Given the description of an element on the screen output the (x, y) to click on. 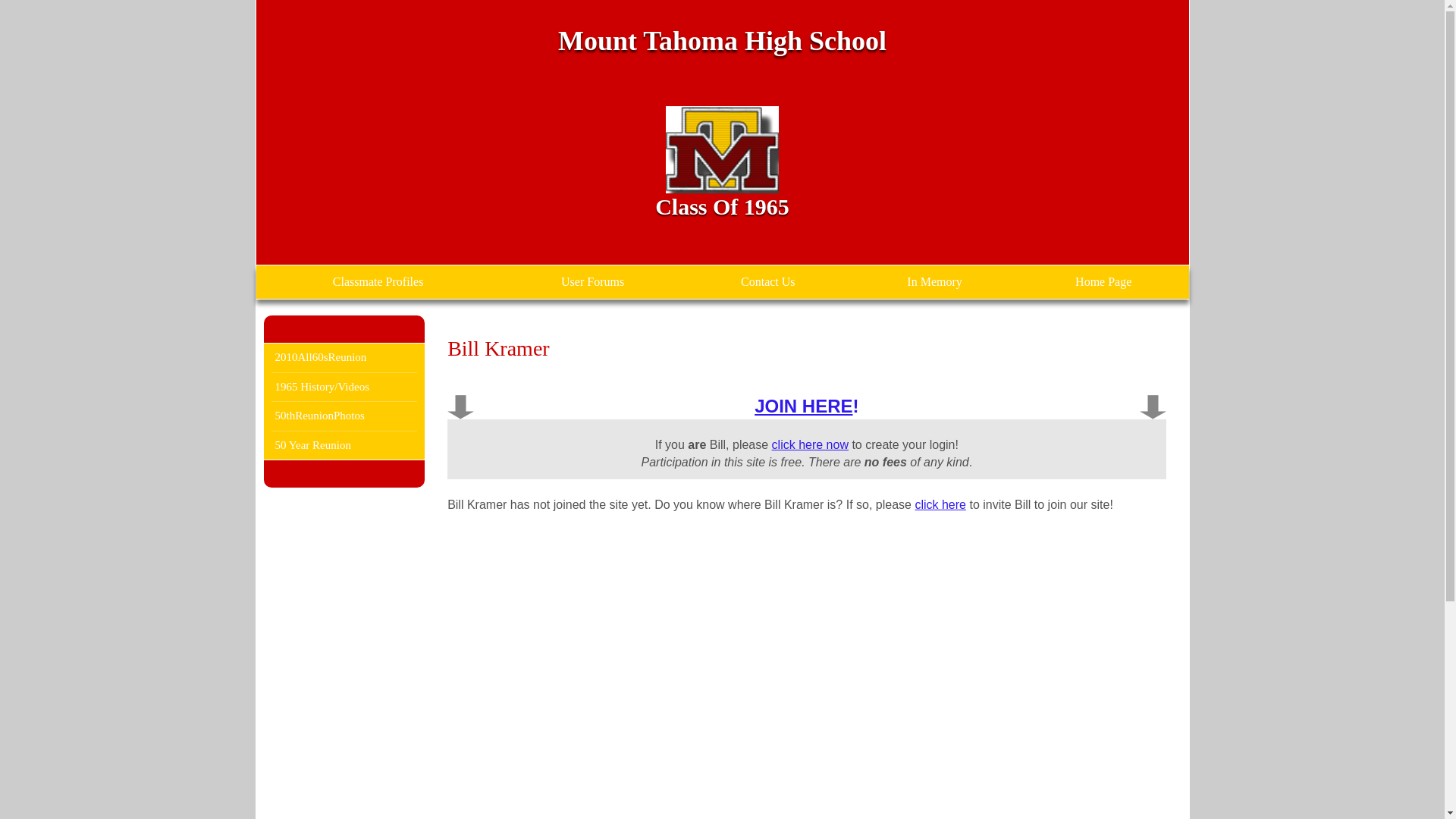
50 Year Reunion (343, 444)
Contact Us (767, 281)
Classmate Profiles (378, 281)
User Forums (592, 281)
click here (940, 504)
2010All60sReunion (343, 357)
Home Page (1103, 281)
In Memory (933, 281)
50thReunionPhotos (343, 415)
JOIN HERE! (806, 405)
